Given the description of an element on the screen output the (x, y) to click on. 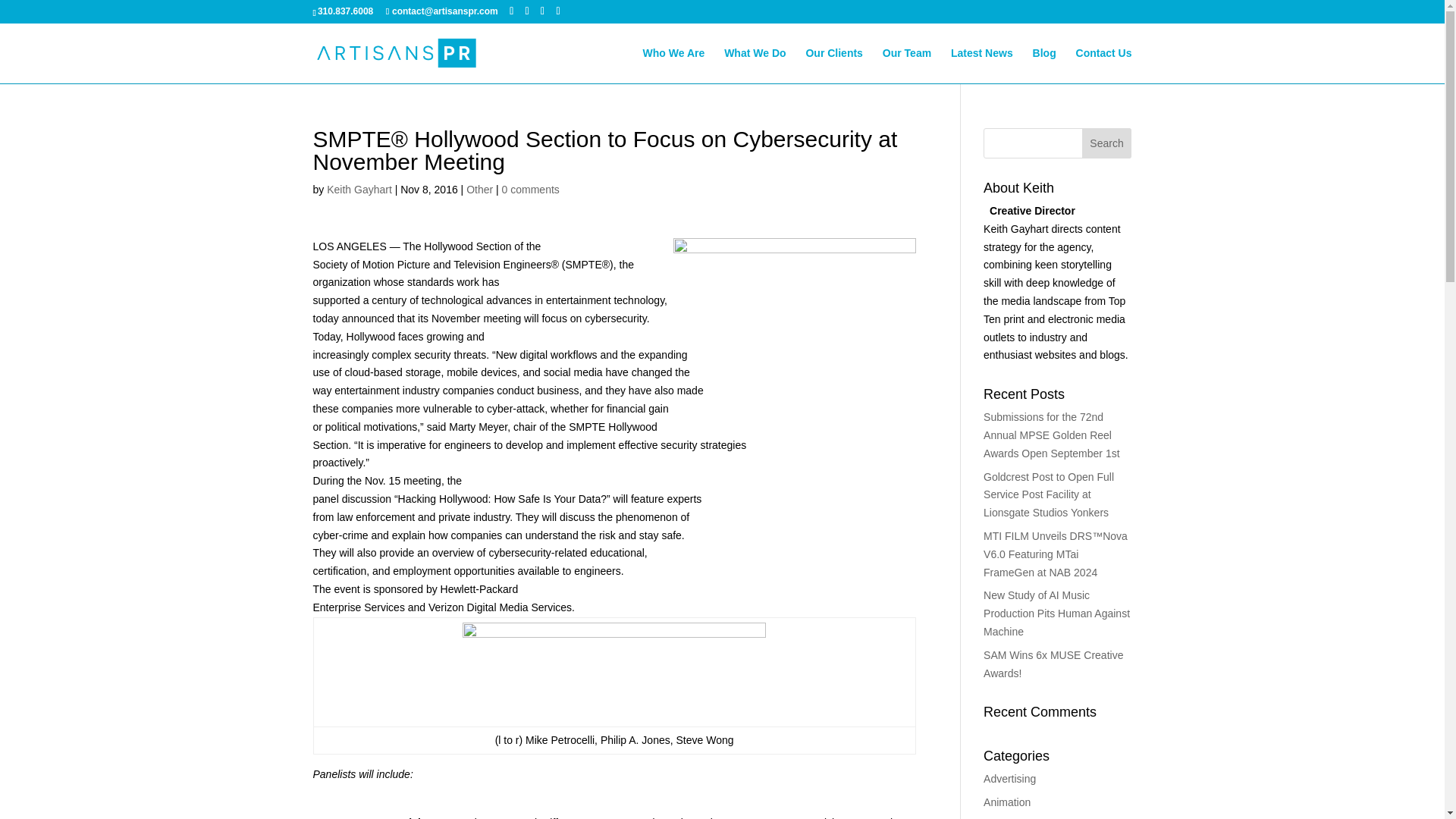
Our Team (906, 65)
Latest News (981, 65)
Contact Us (1103, 65)
Keith Gayhart (358, 189)
0 comments (530, 189)
Other (479, 189)
New Study of AI Music Production Pits Human Against Machine (1056, 613)
SAM Wins 6x MUSE Creative Awards! (1053, 664)
Search (1106, 142)
Advertising (1009, 778)
Posts by Keith Gayhart (358, 189)
What We Do (754, 65)
Animation (1007, 802)
